Given the description of an element on the screen output the (x, y) to click on. 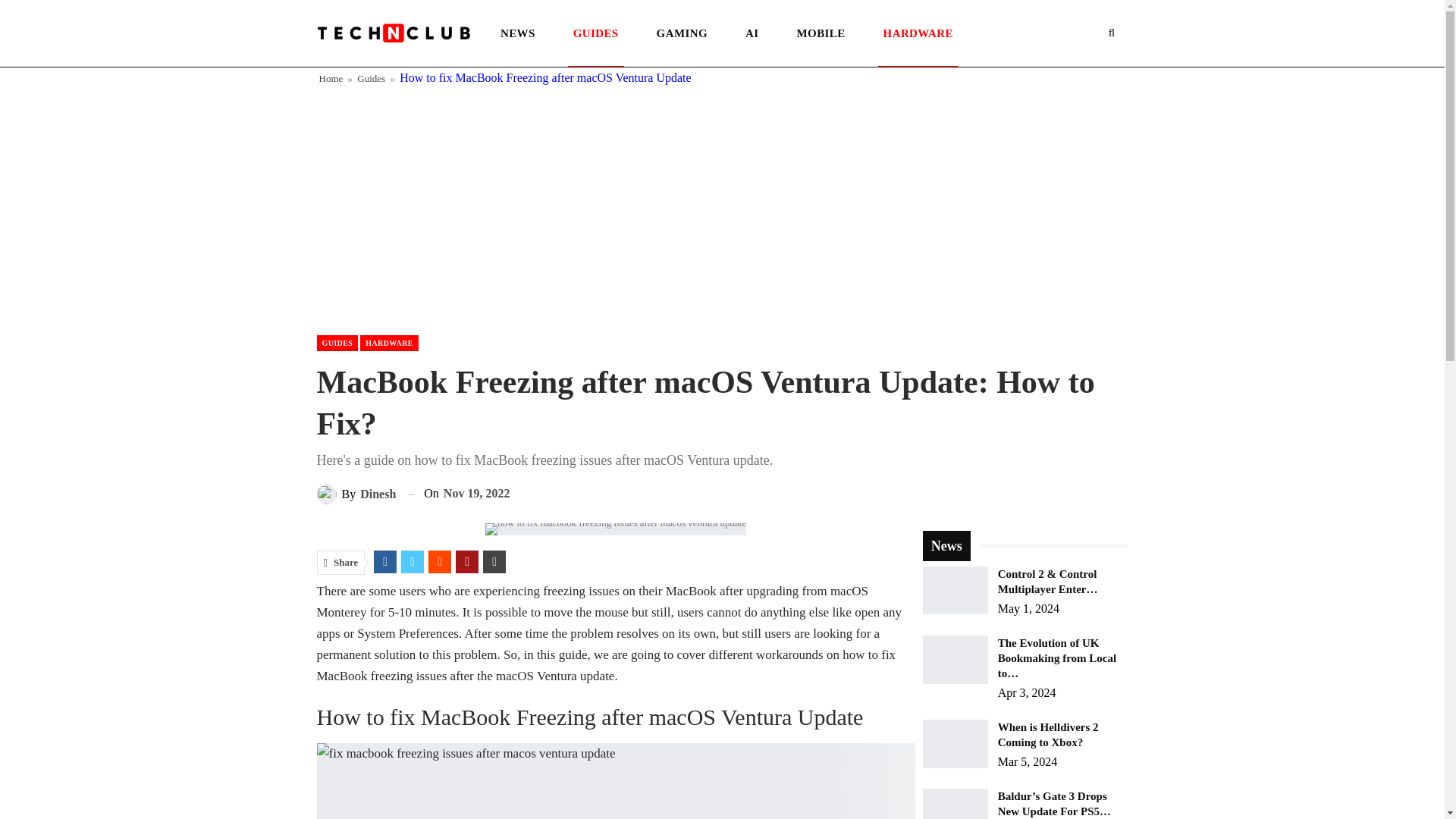
Home (331, 78)
GAMING (681, 33)
The Evolution of UK Bookmaking from Local to Digital (955, 659)
GUIDES (337, 342)
When is Helldivers 2 Coming to Xbox? (1048, 734)
HARDWARE (389, 342)
HARDWARE (917, 33)
When is Helldivers 2 Coming to Xbox? (955, 743)
Browse Author Articles (356, 494)
News (947, 545)
